Given the description of an element on the screen output the (x, y) to click on. 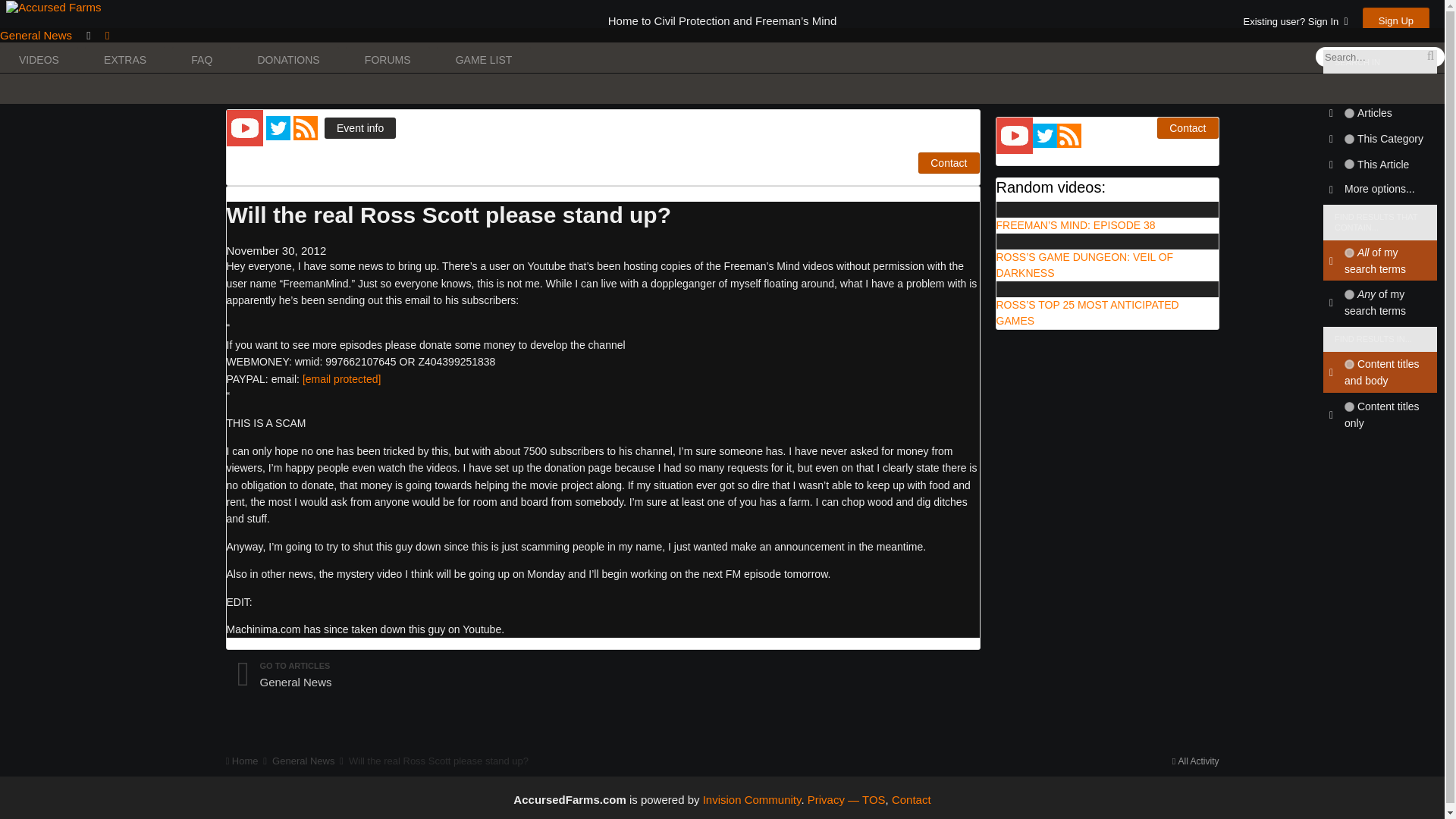
Home (247, 89)
titles (1348, 406)
FAQ (201, 59)
Sign Up (1395, 20)
Contact (1187, 127)
Twitter (280, 126)
Existing user? Sign In   (1295, 21)
VIDEOS (39, 59)
or (1348, 294)
all (1348, 364)
